Given the description of an element on the screen output the (x, y) to click on. 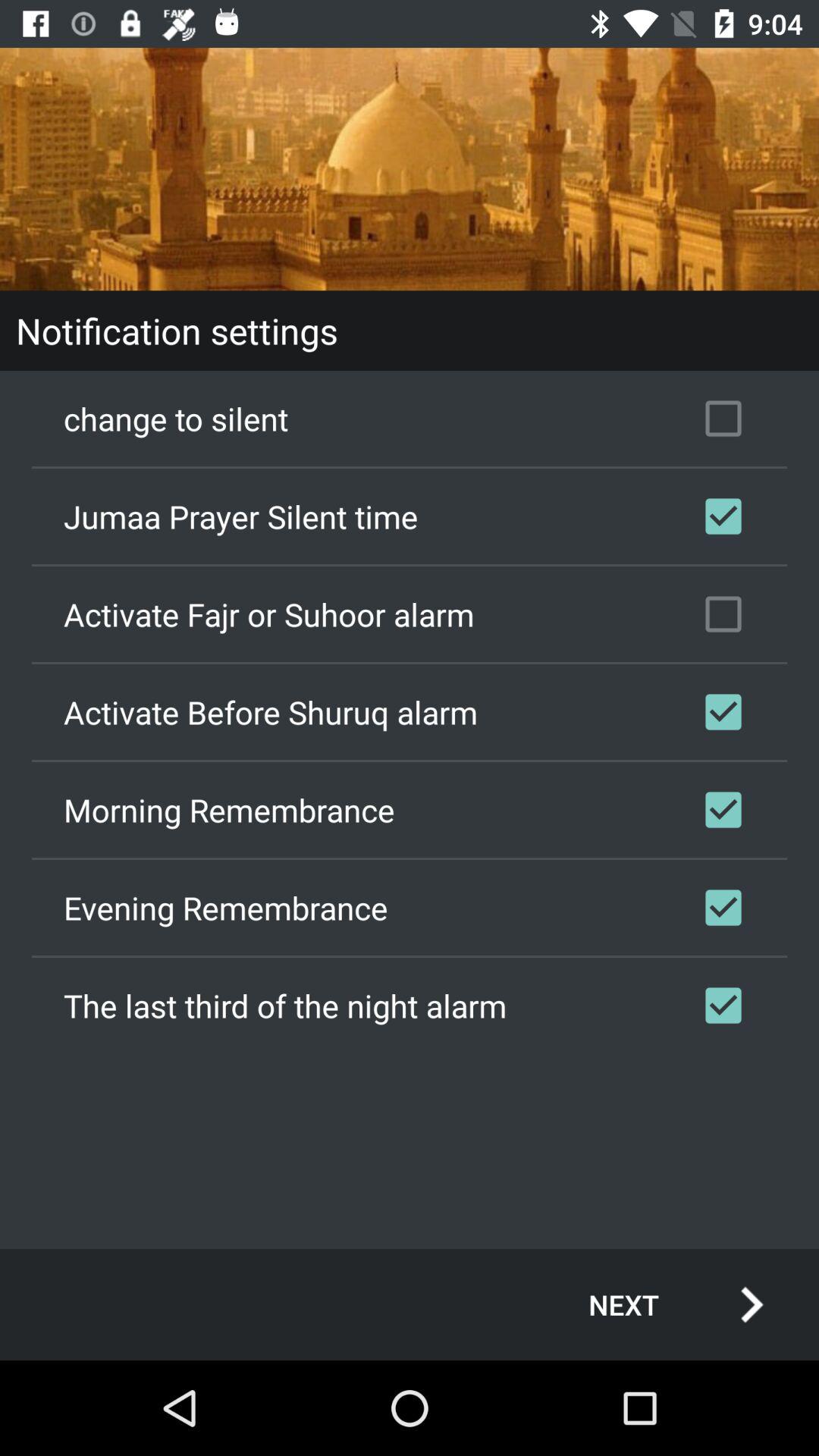
jump until jumaa prayer silent icon (409, 516)
